Given the description of an element on the screen output the (x, y) to click on. 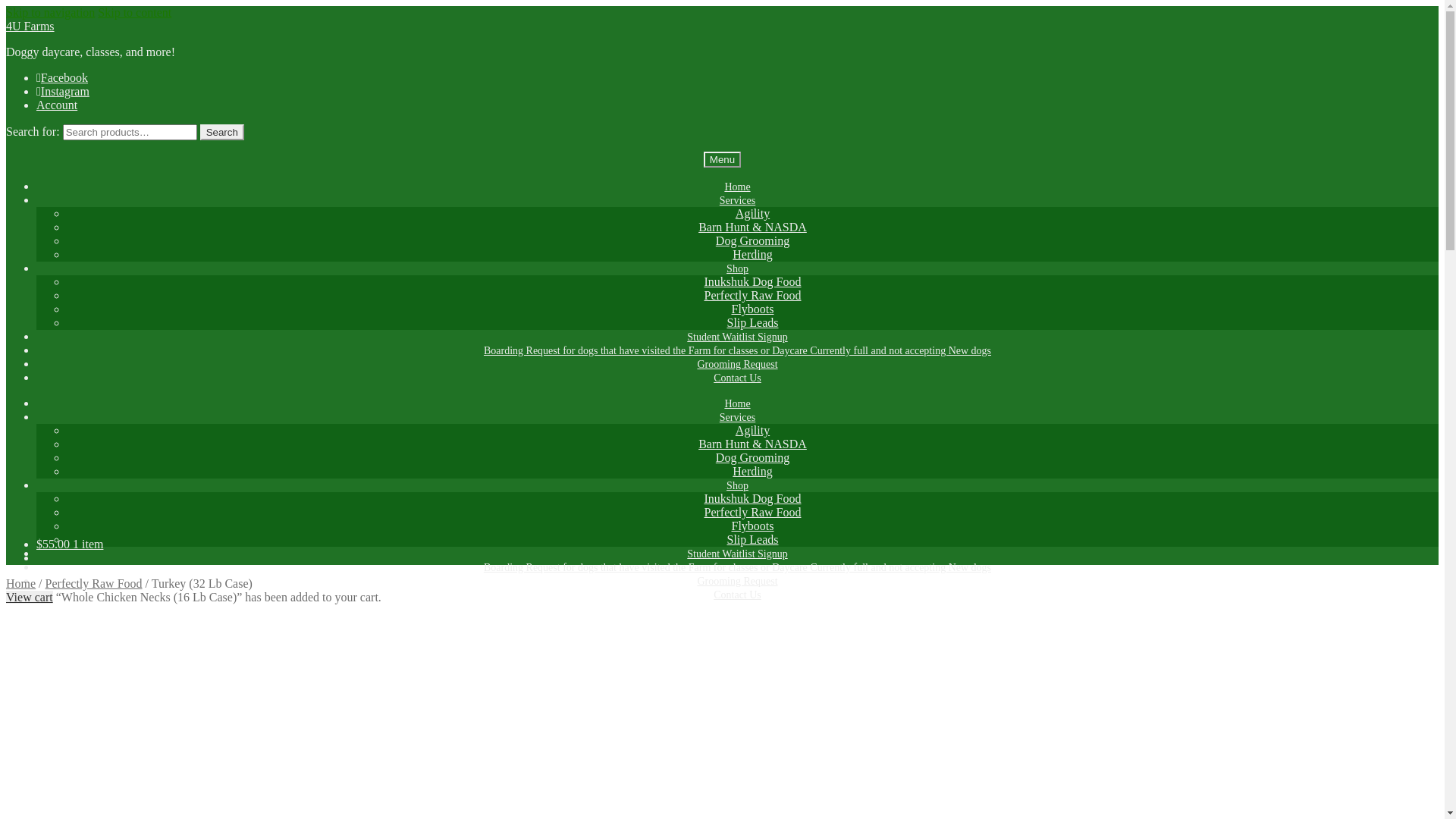
Barn Hunt & NASDA Element type: text (752, 226)
Account Element type: text (56, 104)
Dog Grooming Element type: text (752, 457)
Perfectly Raw Food Element type: text (93, 583)
Slip Leads Element type: text (752, 322)
Services Element type: text (736, 417)
Skip to content Element type: text (134, 12)
Agility Element type: text (752, 429)
4U Farms Element type: text (30, 25)
Contact Us Element type: text (737, 594)
Grooming Request Element type: text (737, 580)
Search Element type: text (222, 132)
Inukshuk Dog Food Element type: text (751, 498)
Dog Grooming Element type: text (752, 240)
Slip Leads Element type: text (752, 539)
Shop Element type: text (737, 268)
Skip to navigation Element type: text (50, 12)
Perfectly Raw Food Element type: text (751, 294)
Inukshuk Dog Food Element type: text (751, 281)
Flyboots Element type: text (752, 308)
Home Element type: text (737, 403)
Shop Element type: text (737, 485)
Perfectly Raw Food Element type: text (751, 511)
Home Element type: text (20, 583)
Herding Element type: text (751, 470)
Instagram Element type: text (64, 90)
Home Element type: text (737, 186)
Contact Us Element type: text (737, 377)
Services Element type: text (736, 200)
Agility Element type: text (752, 213)
Student Waitlist Signup Element type: text (737, 553)
View cart Element type: text (29, 596)
Herding Element type: text (751, 253)
Student Waitlist Signup Element type: text (737, 336)
$55.00 1 item Element type: text (69, 543)
Grooming Request Element type: text (737, 364)
Facebook Element type: text (63, 77)
Menu Element type: text (721, 159)
Barn Hunt & NASDA Element type: text (752, 443)
Flyboots Element type: text (752, 525)
